Given the description of an element on the screen output the (x, y) to click on. 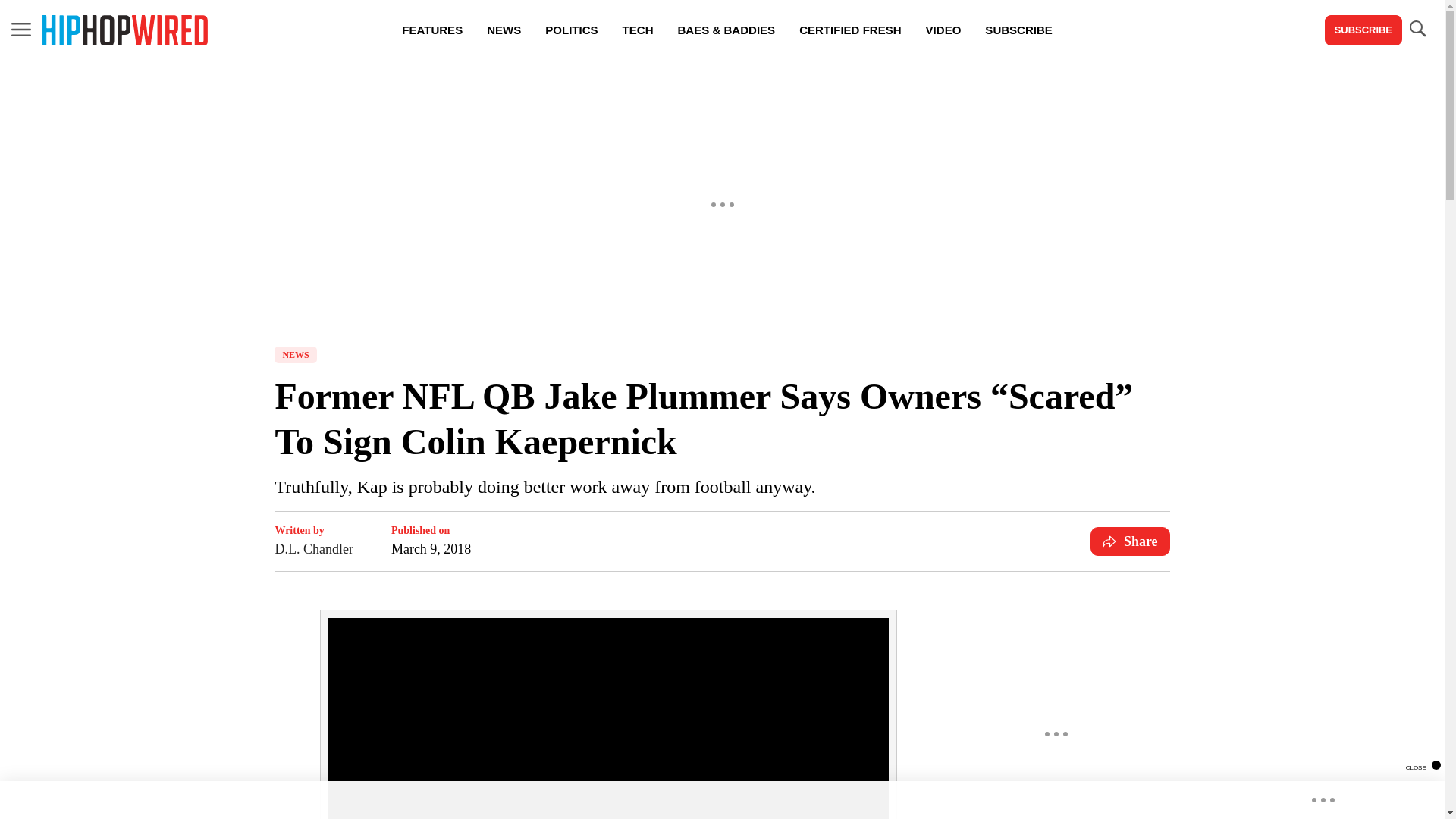
MENU (20, 29)
TOGGLE SEARCH (1417, 28)
FEATURES (432, 30)
MENU (20, 30)
TOGGLE SEARCH (1417, 30)
SUBSCRIBE (1363, 30)
CERTIFIED FRESH (849, 30)
VIDEO (944, 30)
D.L. Chandler (313, 548)
NEWS (503, 30)
SUBSCRIBE (1018, 30)
TECH (637, 30)
NEWS (295, 354)
Share (1130, 541)
POLITICS (571, 30)
